Given the description of an element on the screen output the (x, y) to click on. 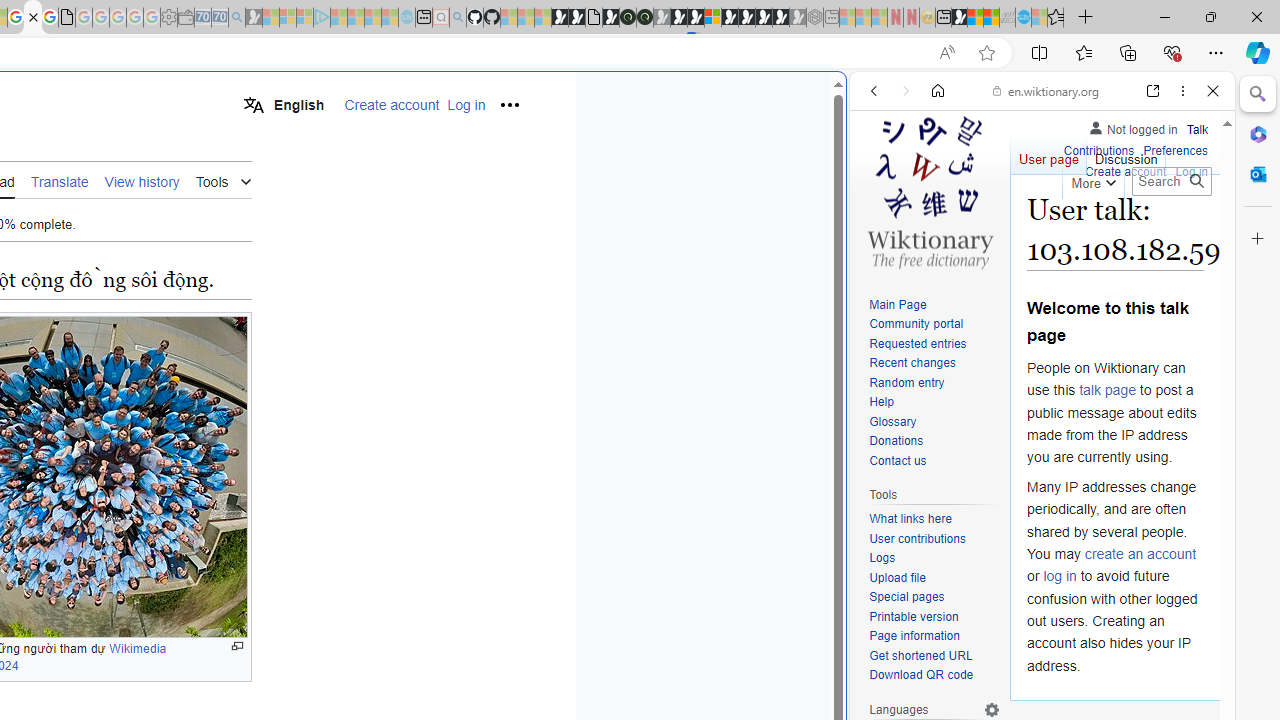
Log in (1191, 172)
Recent changes (912, 362)
Logs (934, 558)
Create account (1125, 172)
Tools (223, 179)
